Given the description of an element on the screen output the (x, y) to click on. 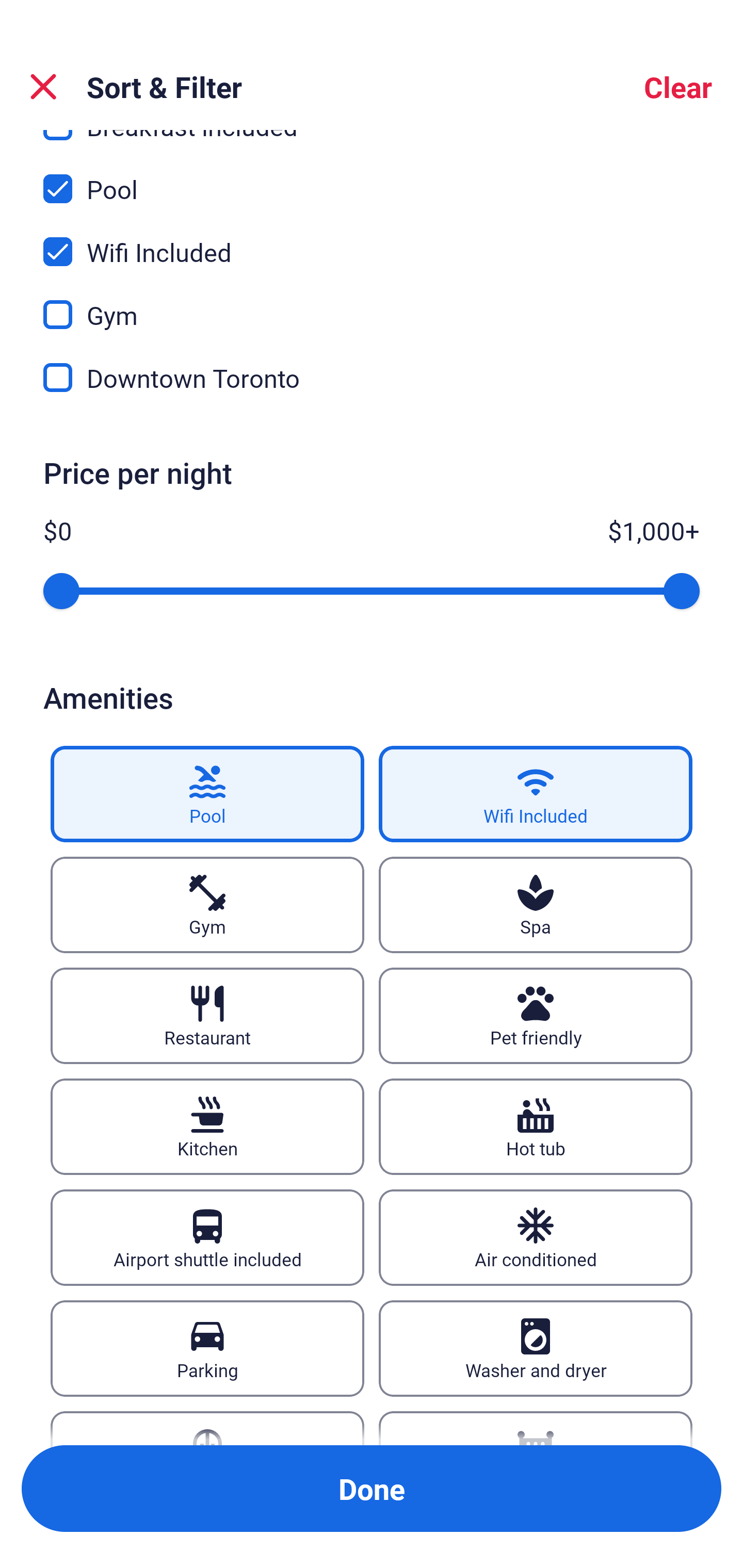
Close Sort and Filter (43, 86)
Clear (677, 86)
Pool, Pool (371, 176)
Wifi Included, Wifi Included (371, 239)
Gym, Gym (371, 302)
Downtown Toronto, Downtown Toronto (371, 377)
Pool (207, 794)
Wifi Included (535, 794)
Gym (207, 904)
Spa (535, 904)
Restaurant (207, 1015)
Pet friendly (535, 1015)
Kitchen (207, 1126)
Hot tub (535, 1126)
Airport shuttle included (207, 1237)
Air conditioned (535, 1237)
Parking (207, 1348)
Washer and dryer (535, 1348)
Apply and close Sort and Filter Done (371, 1488)
